Given the description of an element on the screen output the (x, y) to click on. 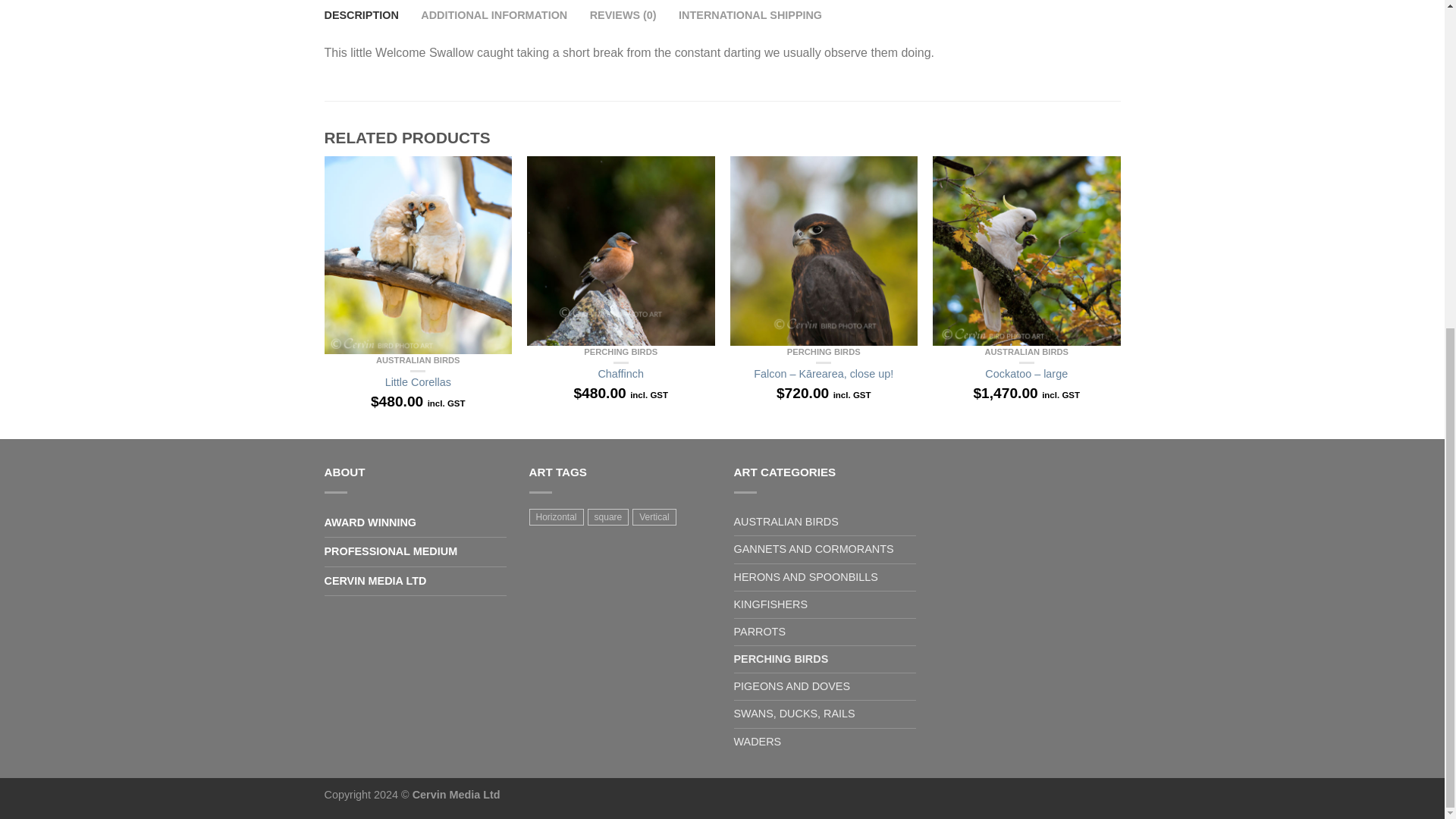
20 products (556, 516)
8 products (653, 516)
23 products (608, 516)
